Given the description of an element on the screen output the (x, y) to click on. 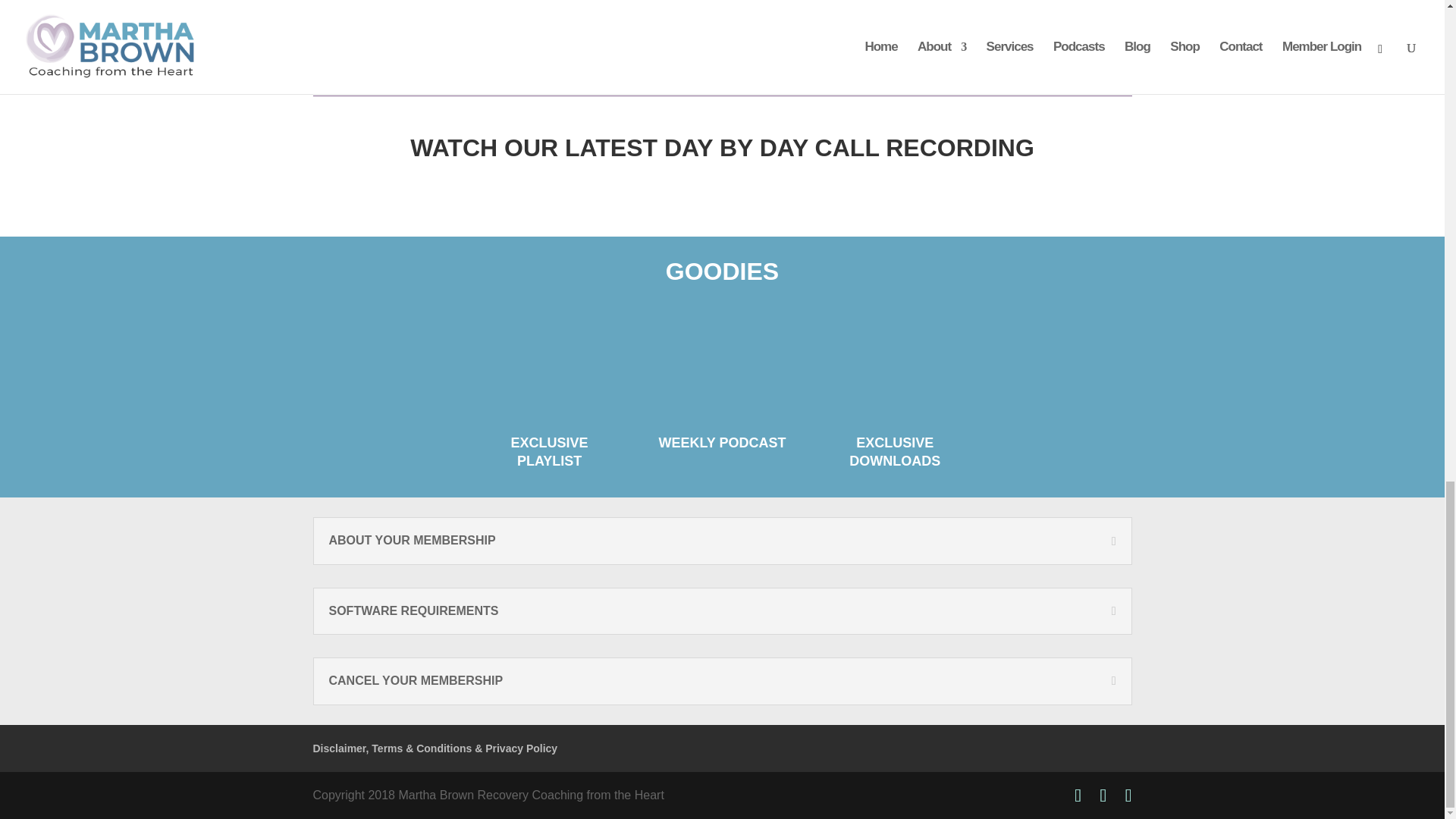
EXCLUSIVE DOWNLOADS (894, 450)
Martha's Webinar Calendar (1045, 45)
NHI Group Coaching Calls (613, 45)
EXCLUSIVE PLAYLIST (549, 450)
Table Talk Tuesdays (397, 32)
WEEKLY PODCAST (722, 442)
Watch our Past Webinars (829, 45)
